Given the description of an element on the screen output the (x, y) to click on. 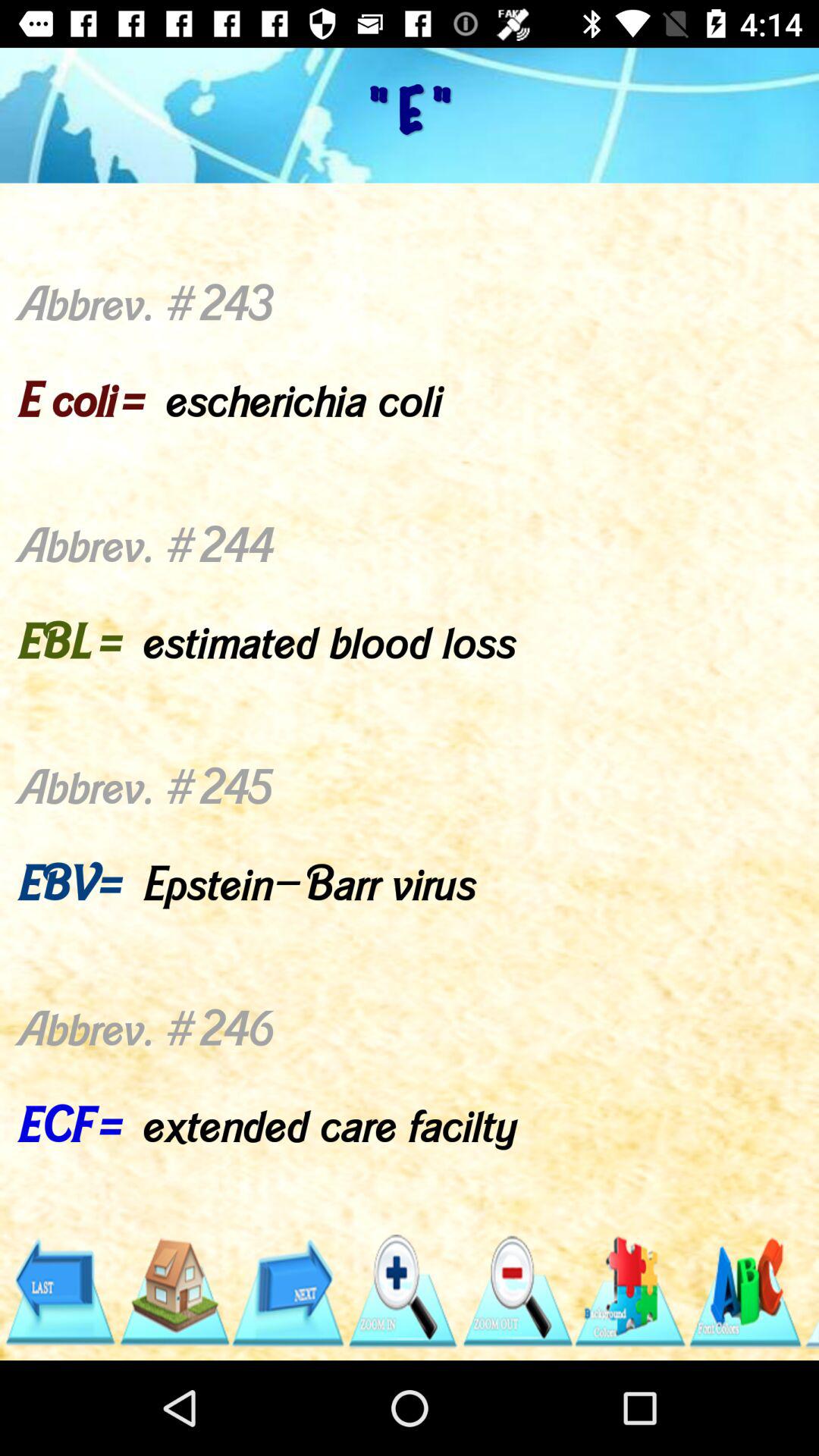
launch the icon below the abbrev 	243	 	e (173, 1291)
